Given the description of an element on the screen output the (x, y) to click on. 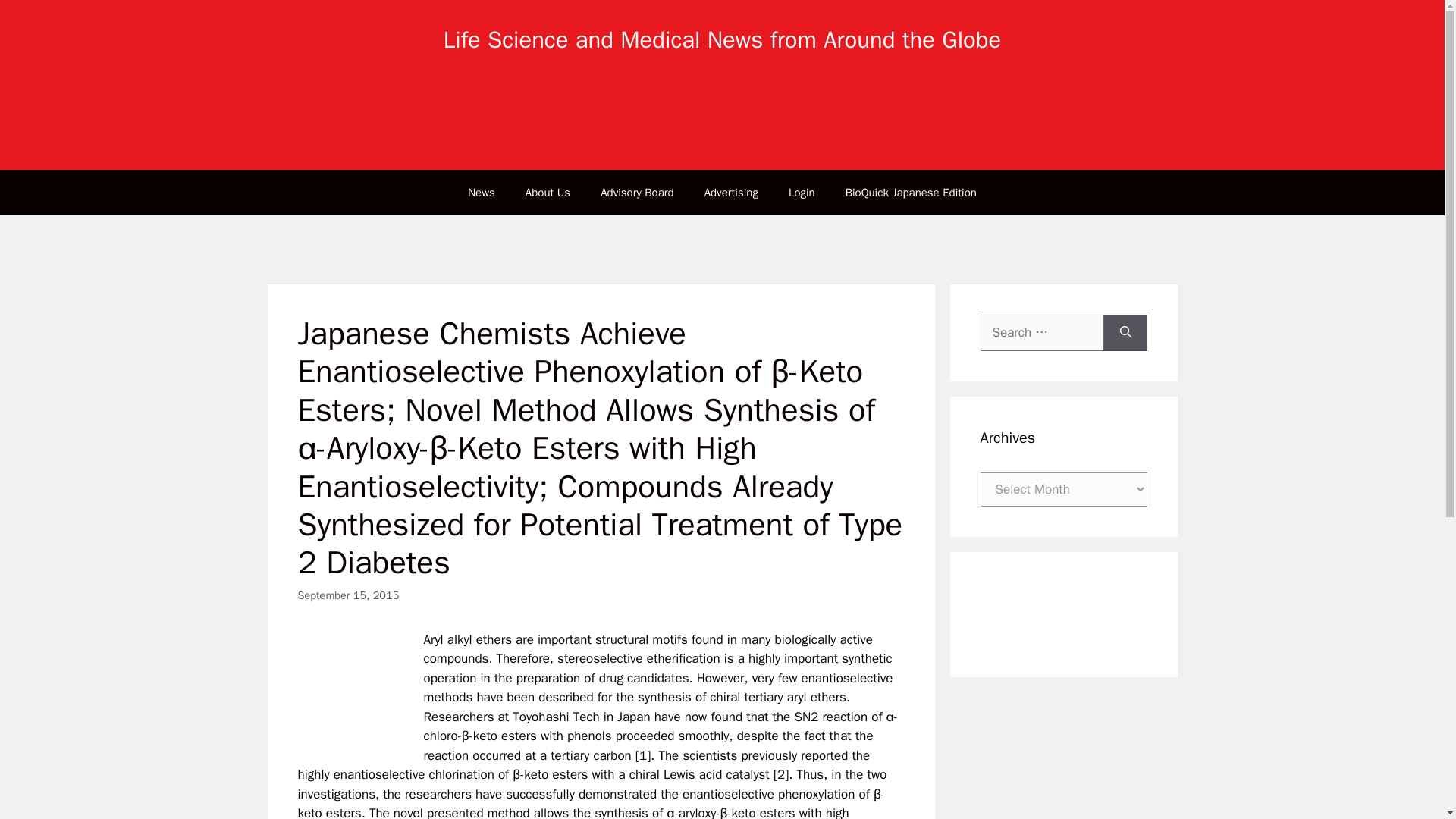
Login (801, 192)
Search for: (1041, 332)
News (481, 192)
Advisory Board (636, 192)
Advertising (730, 192)
BioQuick Japanese Edition (910, 192)
About Us (548, 192)
